Given the description of an element on the screen output the (x, y) to click on. 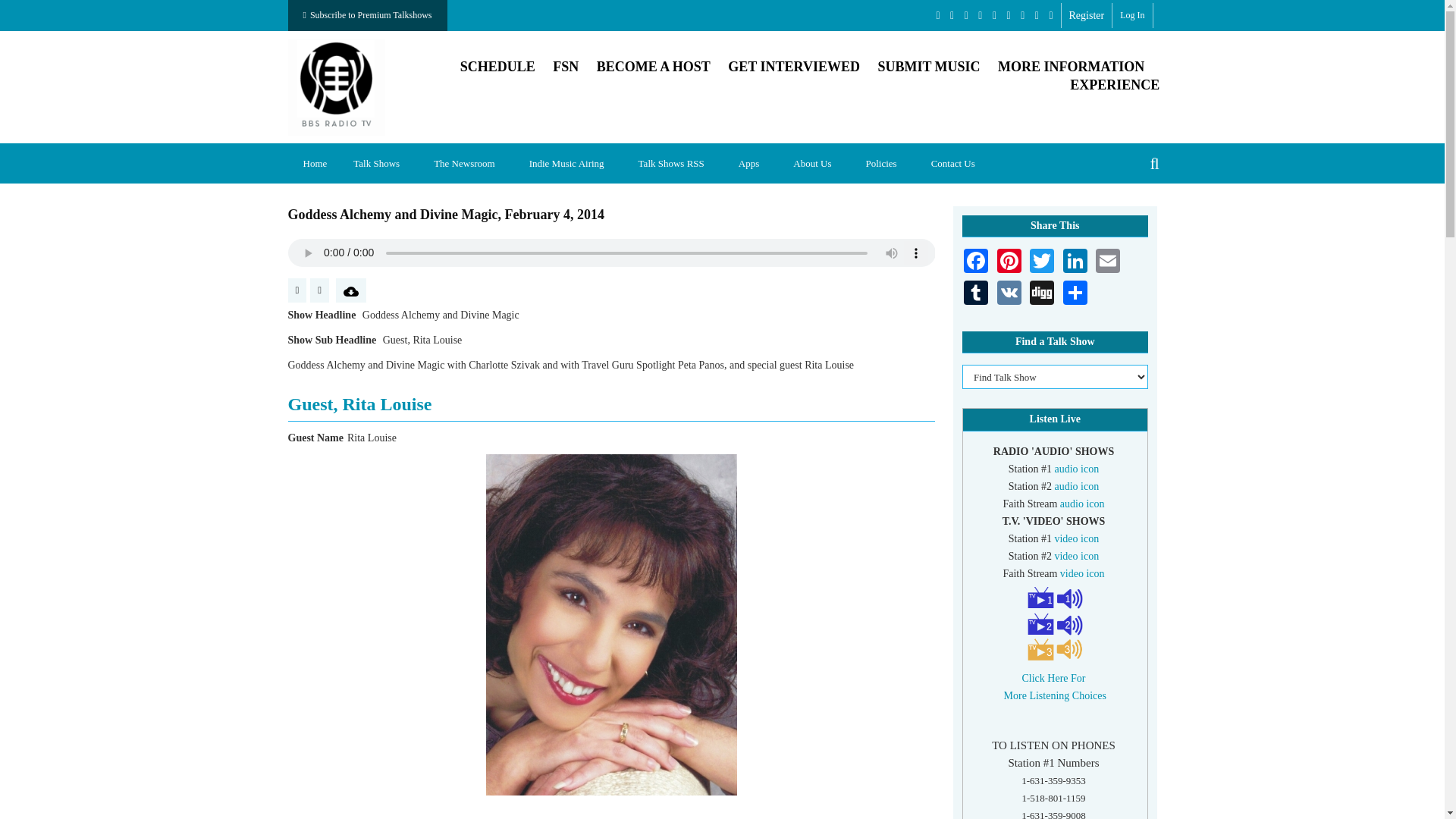
Home (315, 163)
Faith Stream Network (565, 66)
Log In (1131, 14)
GET INTERVIEWED (794, 66)
BBS Radio TV Video Live Stream for Station 1 (1039, 595)
BBS Radio TV Live Video Stream for Station 2 (1076, 555)
FSN (565, 66)
Subscribe to Premium Talkshows (367, 15)
EXPERIENCE (1114, 84)
BBS Radio TV Live Audio Stream for Station 1 (1076, 469)
